Given the description of an element on the screen output the (x, y) to click on. 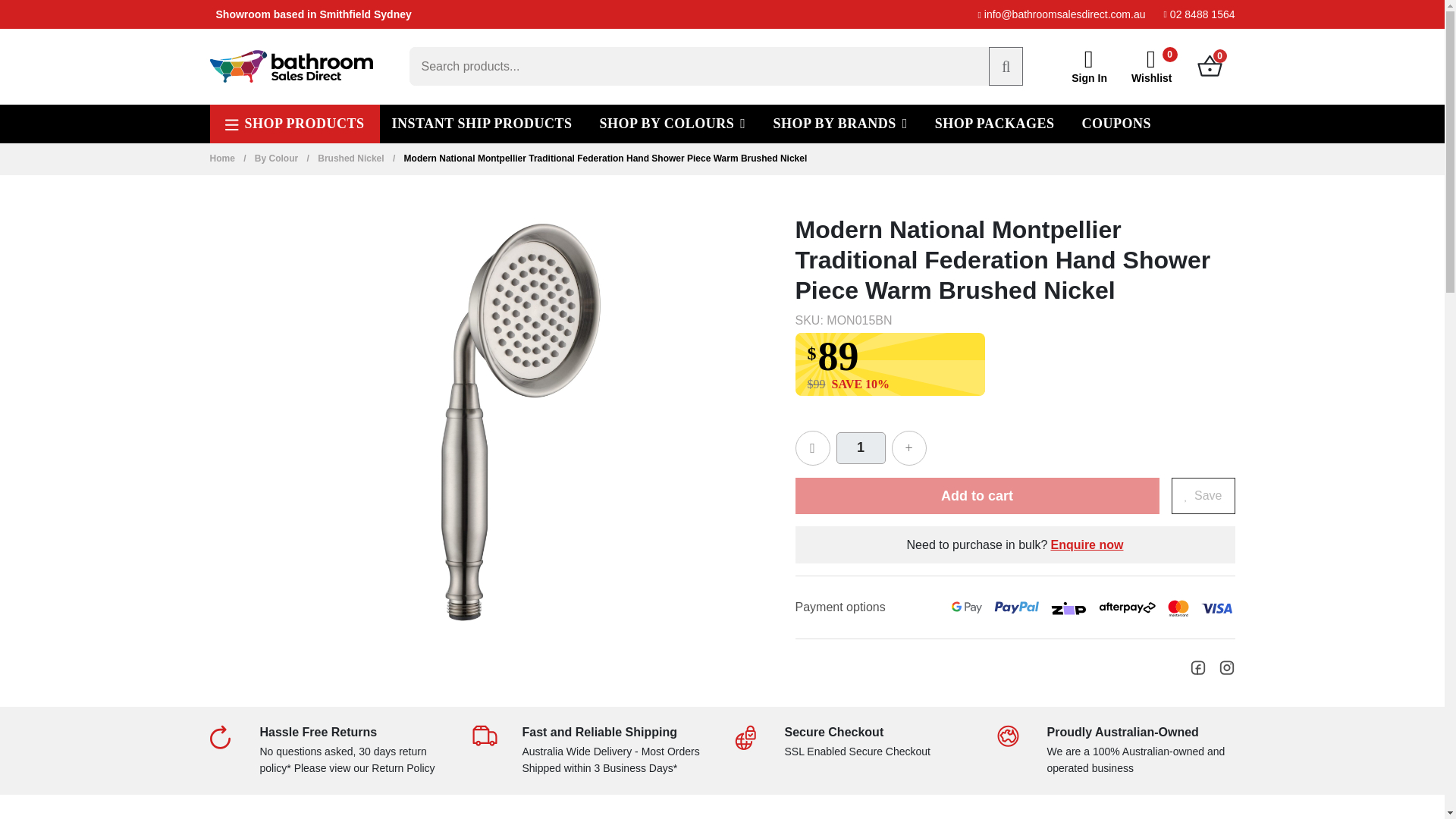
Search products... (716, 65)
SHOP PRODUCTS (293, 123)
02 8488 1564 (1198, 14)
1 (860, 448)
1 (860, 448)
Sign In (1088, 66)
SHOP BY BRANDS (839, 123)
INSTANT SHIP PRODUCTS (482, 123)
SHOP BY COLOURS (671, 123)
